Given the description of an element on the screen output the (x, y) to click on. 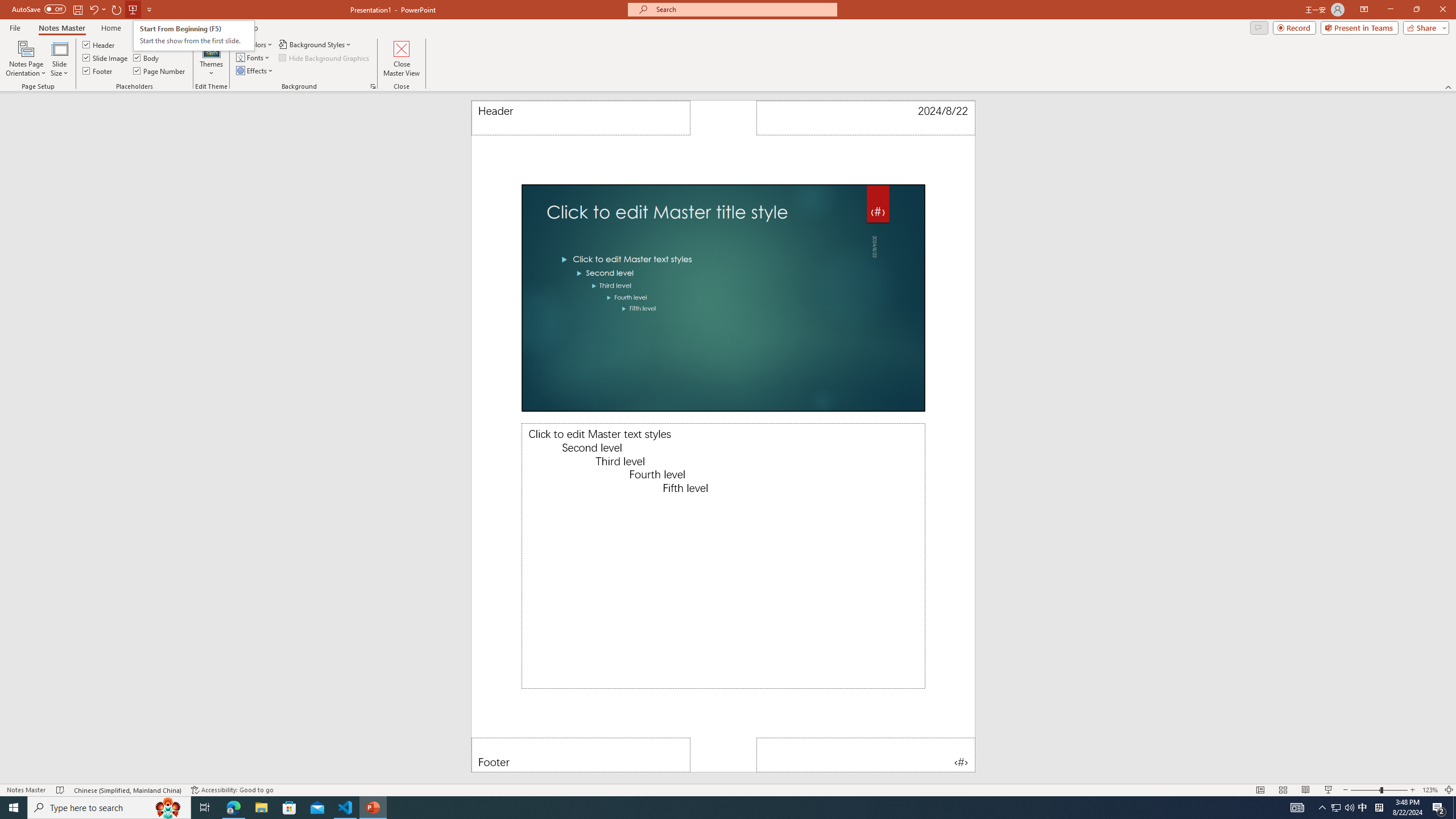
Footer (580, 754)
Slide Size (59, 58)
Footer (98, 69)
Body (147, 56)
